Given the description of an element on the screen output the (x, y) to click on. 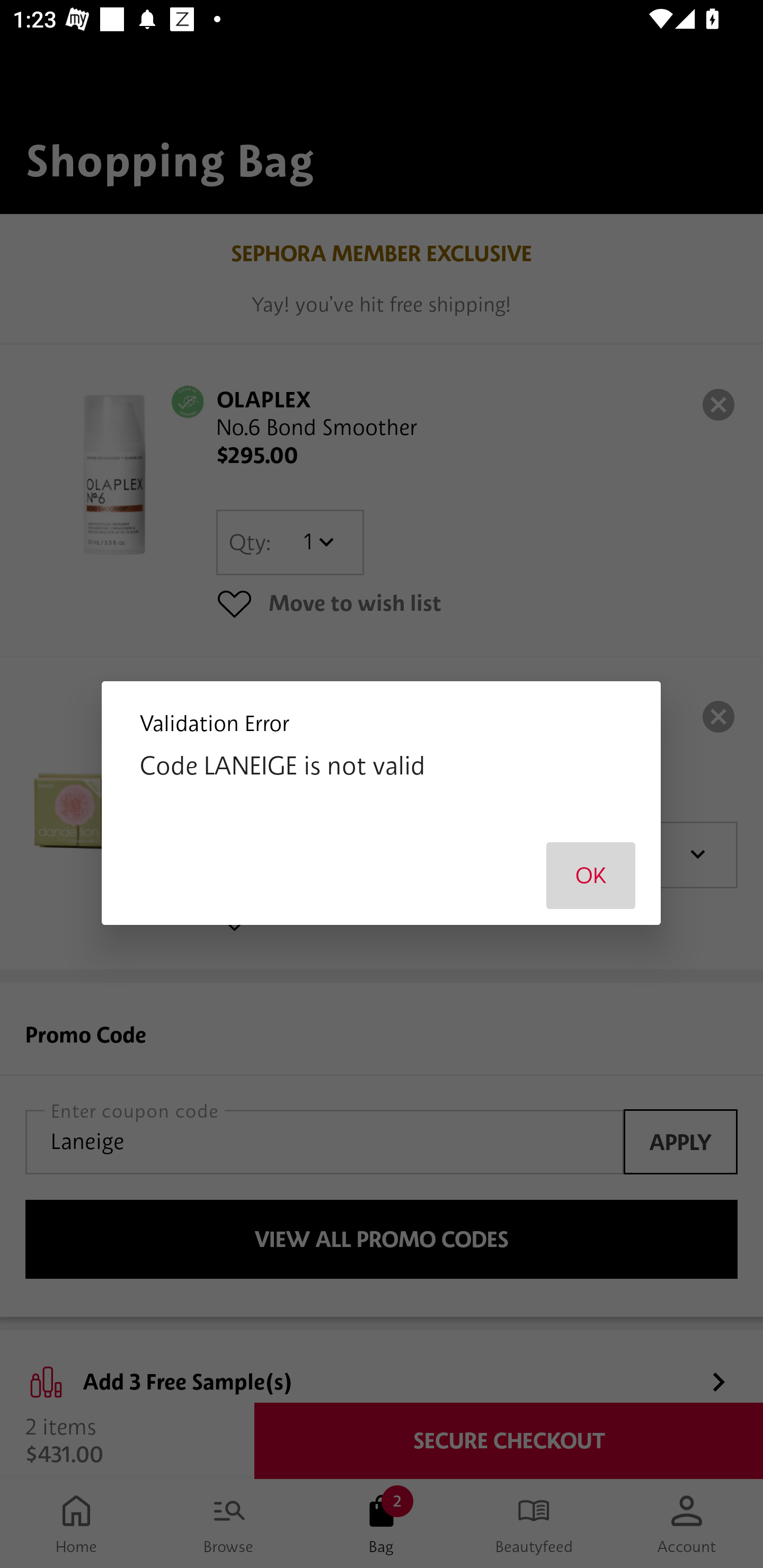
OK (590, 875)
